Given the description of an element on the screen output the (x, y) to click on. 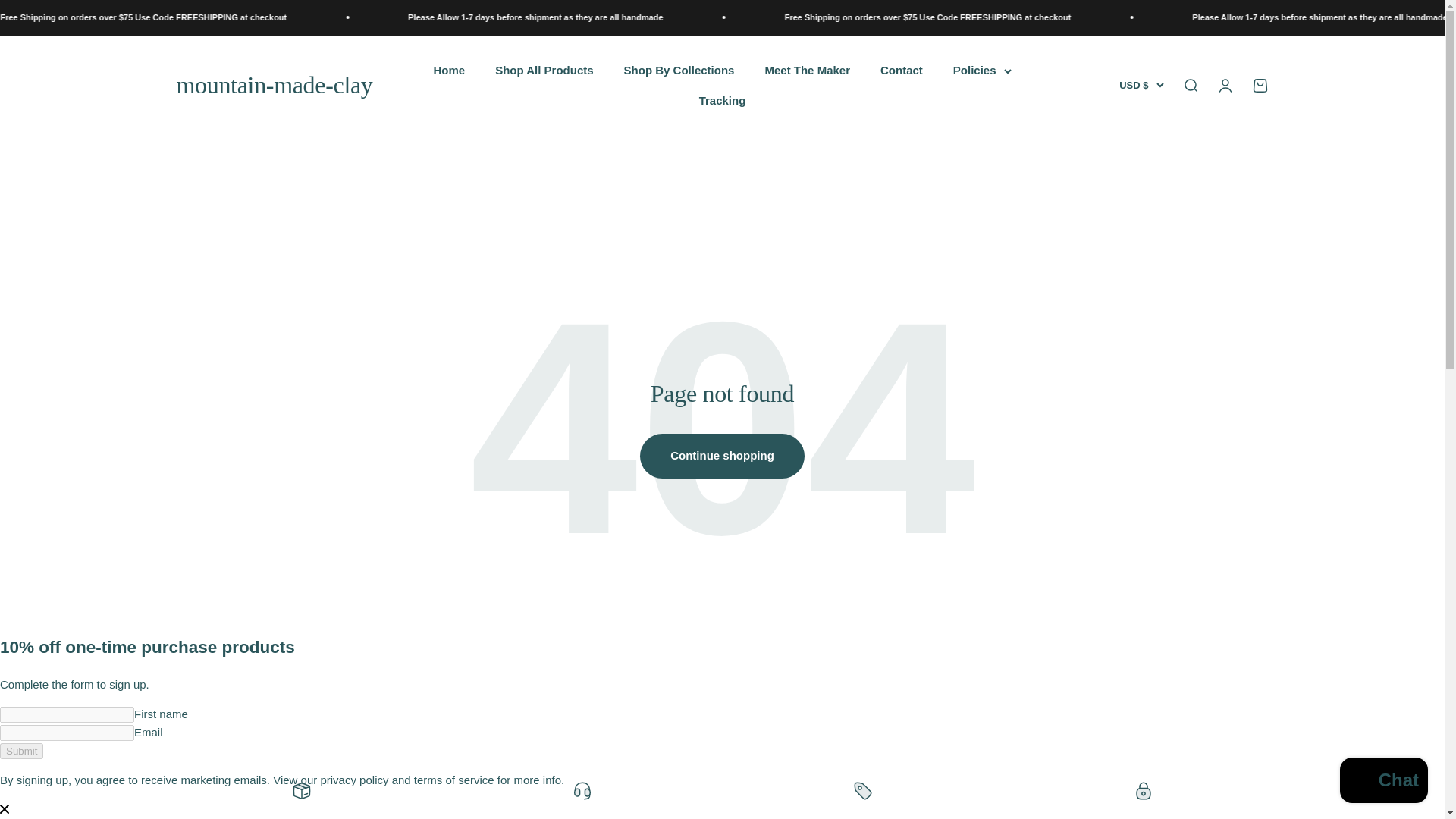
Home (448, 69)
Shop All Products (543, 69)
Shop By Collections (679, 69)
mountain-made-clay (274, 85)
Meet The Maker (807, 69)
Tracking (721, 100)
Shopify online store chat (1383, 781)
Contact (901, 69)
